Given the description of an element on the screen output the (x, y) to click on. 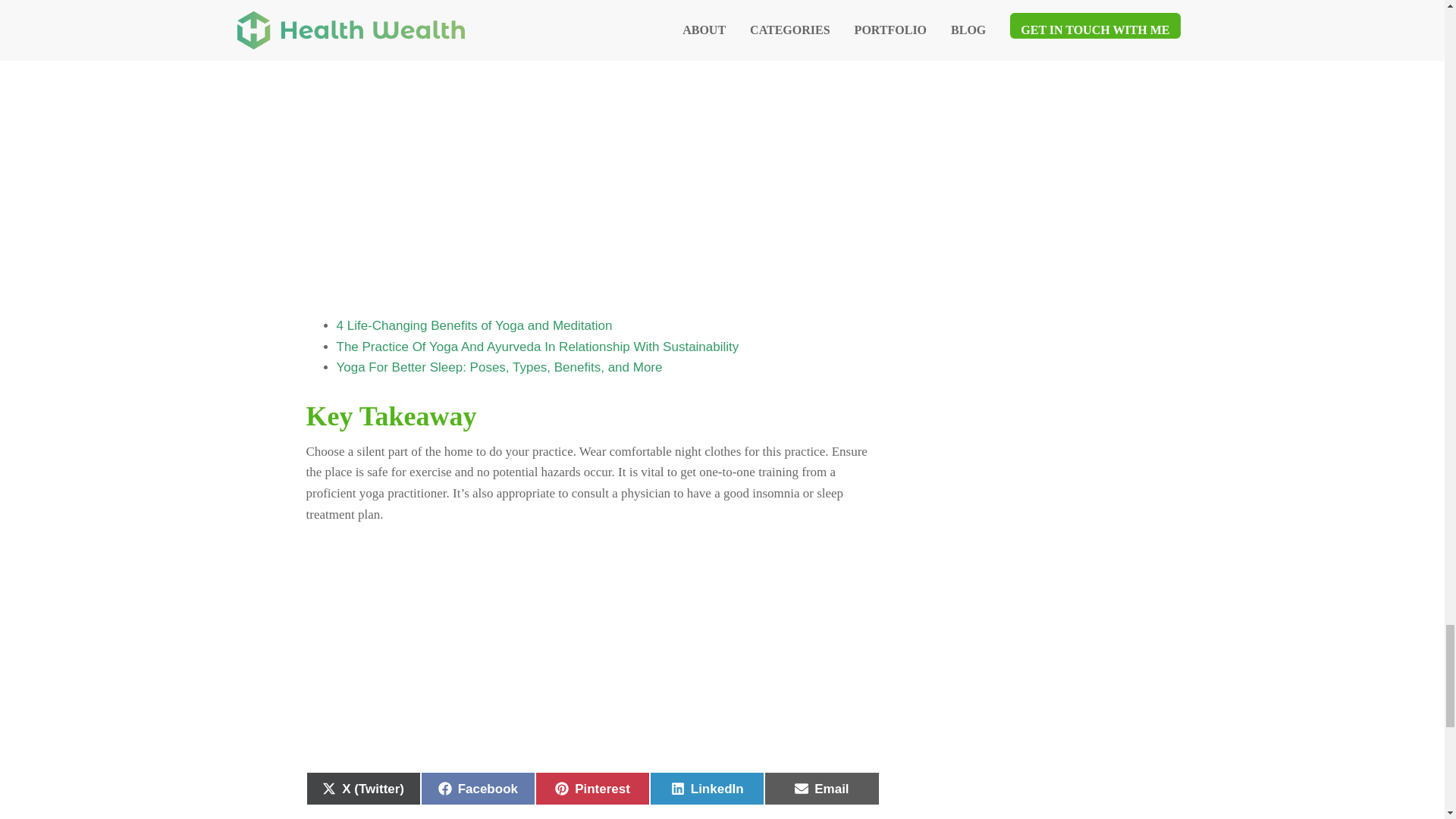
4 Life-Changing Benefits of Yoga and Meditation (706, 788)
Yoga For Better Sleep: Poses, Types, Benefits, and More (474, 325)
